Given the description of an element on the screen output the (x, y) to click on. 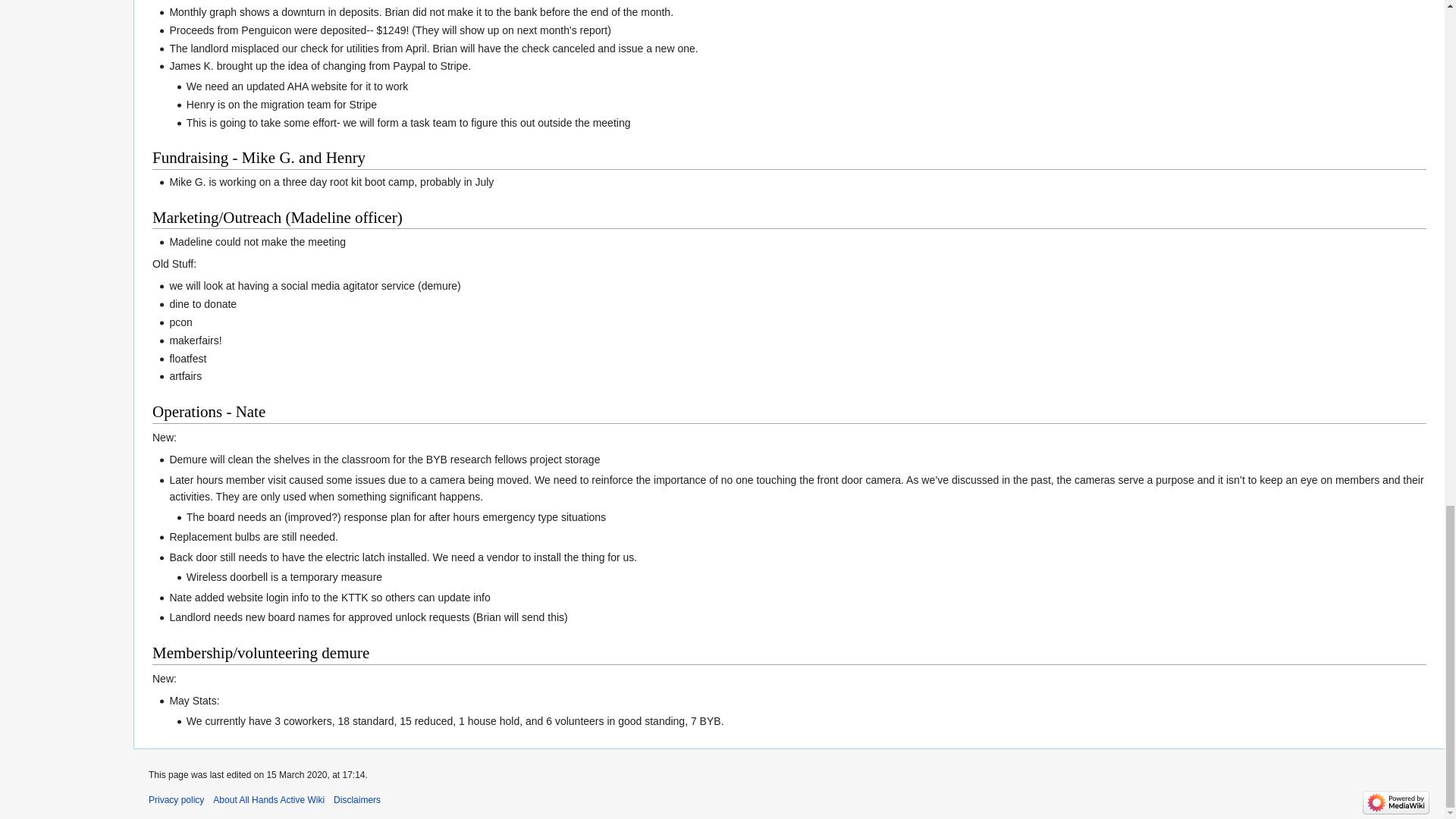
About All Hands Active Wiki (268, 799)
Privacy policy (175, 799)
Disclaimers (356, 799)
